Given the description of an element on the screen output the (x, y) to click on. 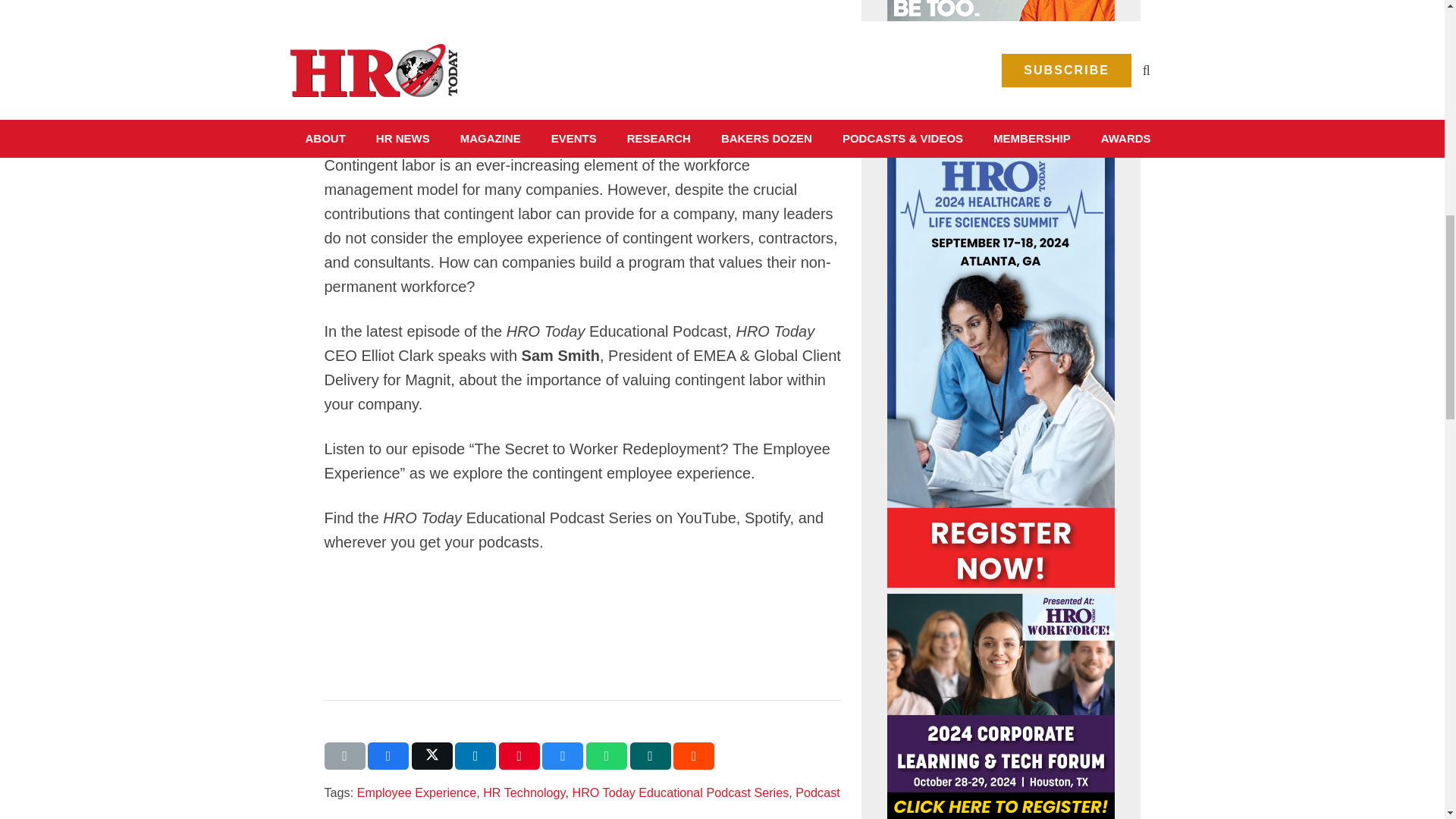
Share this (606, 755)
Share this (562, 755)
Share this (693, 755)
Share this (388, 755)
Share this (650, 755)
Pin this (519, 755)
Share this (475, 755)
YouTube video player (536, 63)
Email this (344, 755)
Tweet this (432, 755)
